Given the description of an element on the screen output the (x, y) to click on. 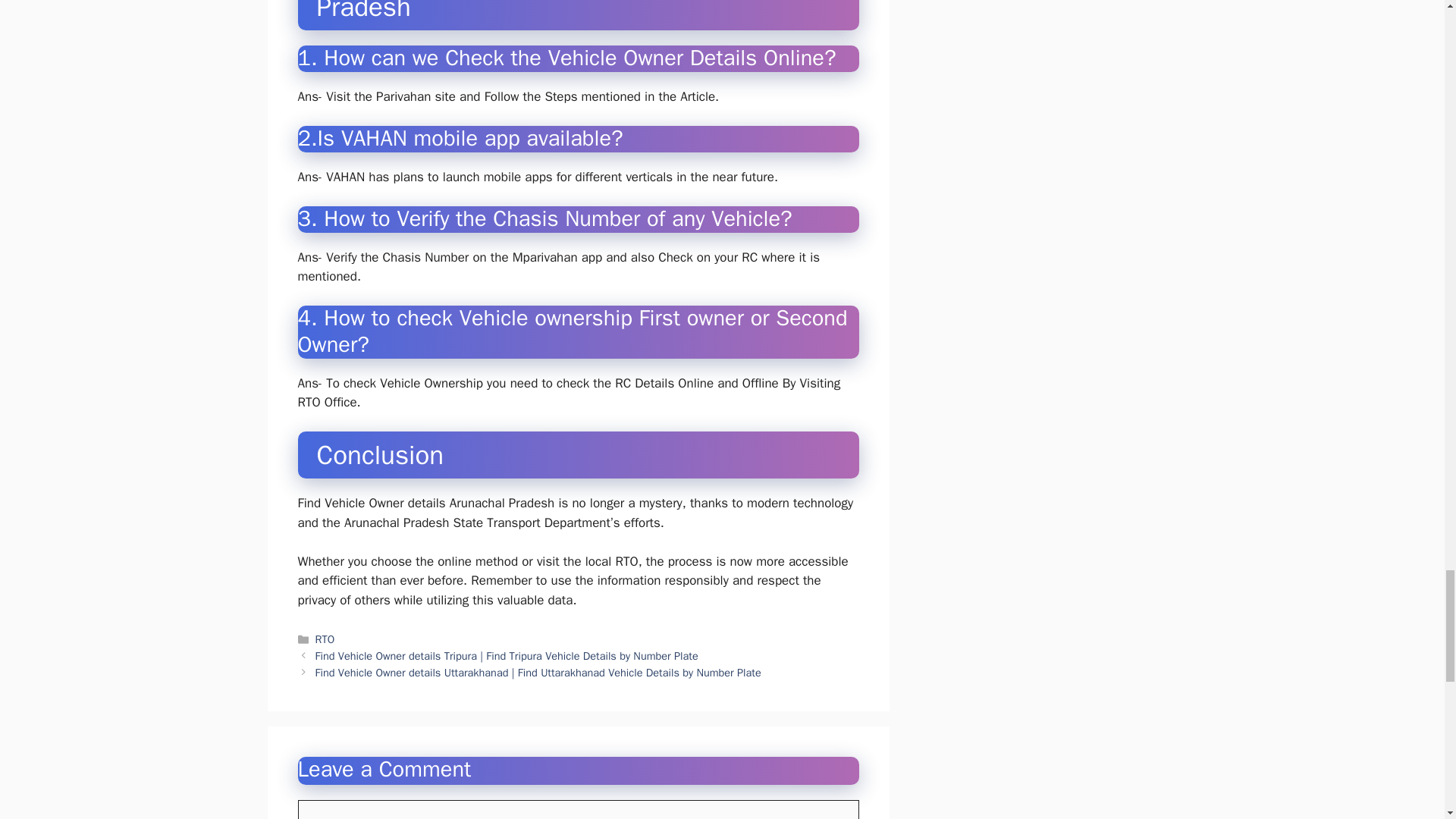
RTO (324, 639)
